Given the description of an element on the screen output the (x, y) to click on. 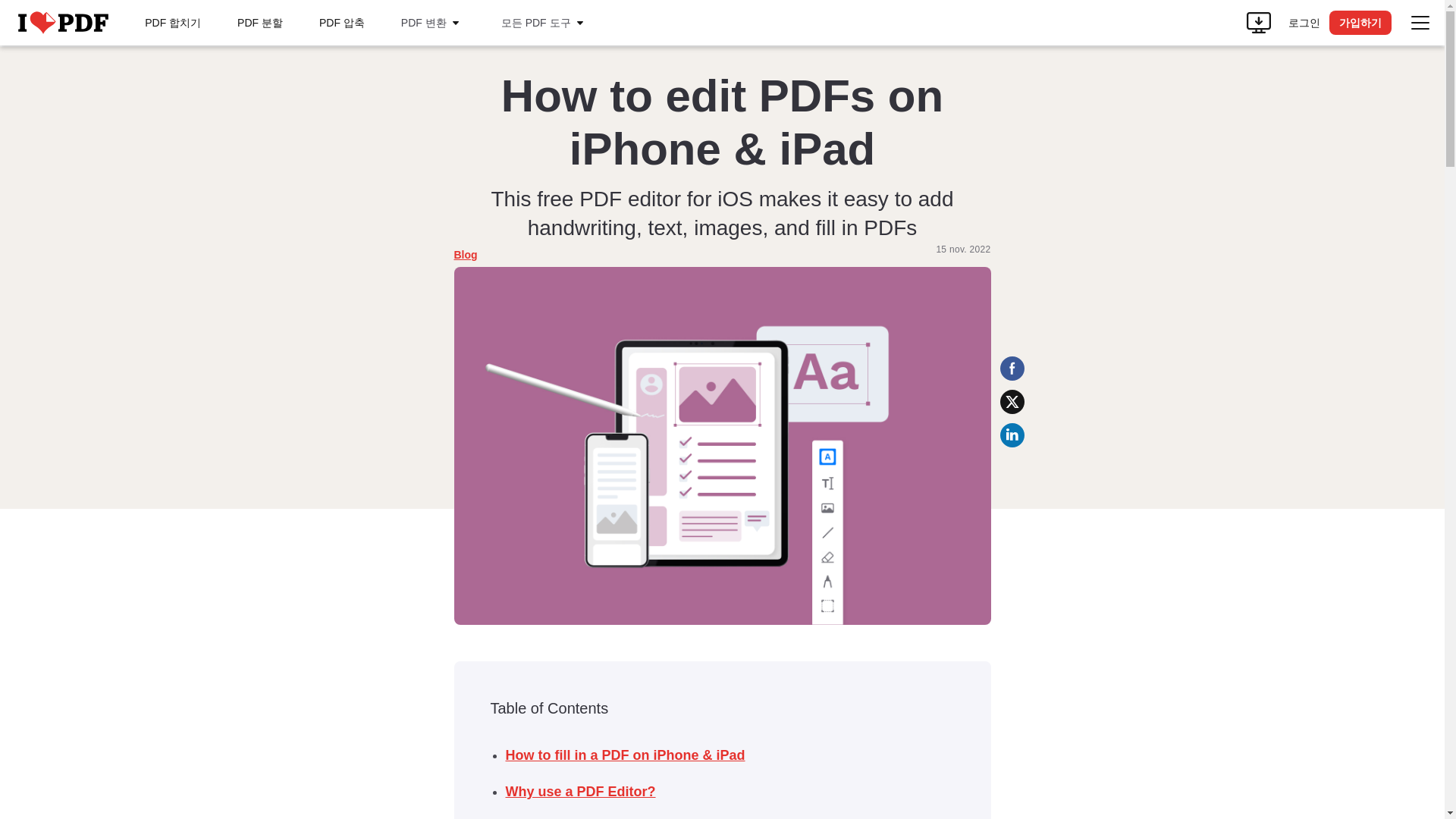
iLovePDF (62, 22)
